Given the description of an element on the screen output the (x, y) to click on. 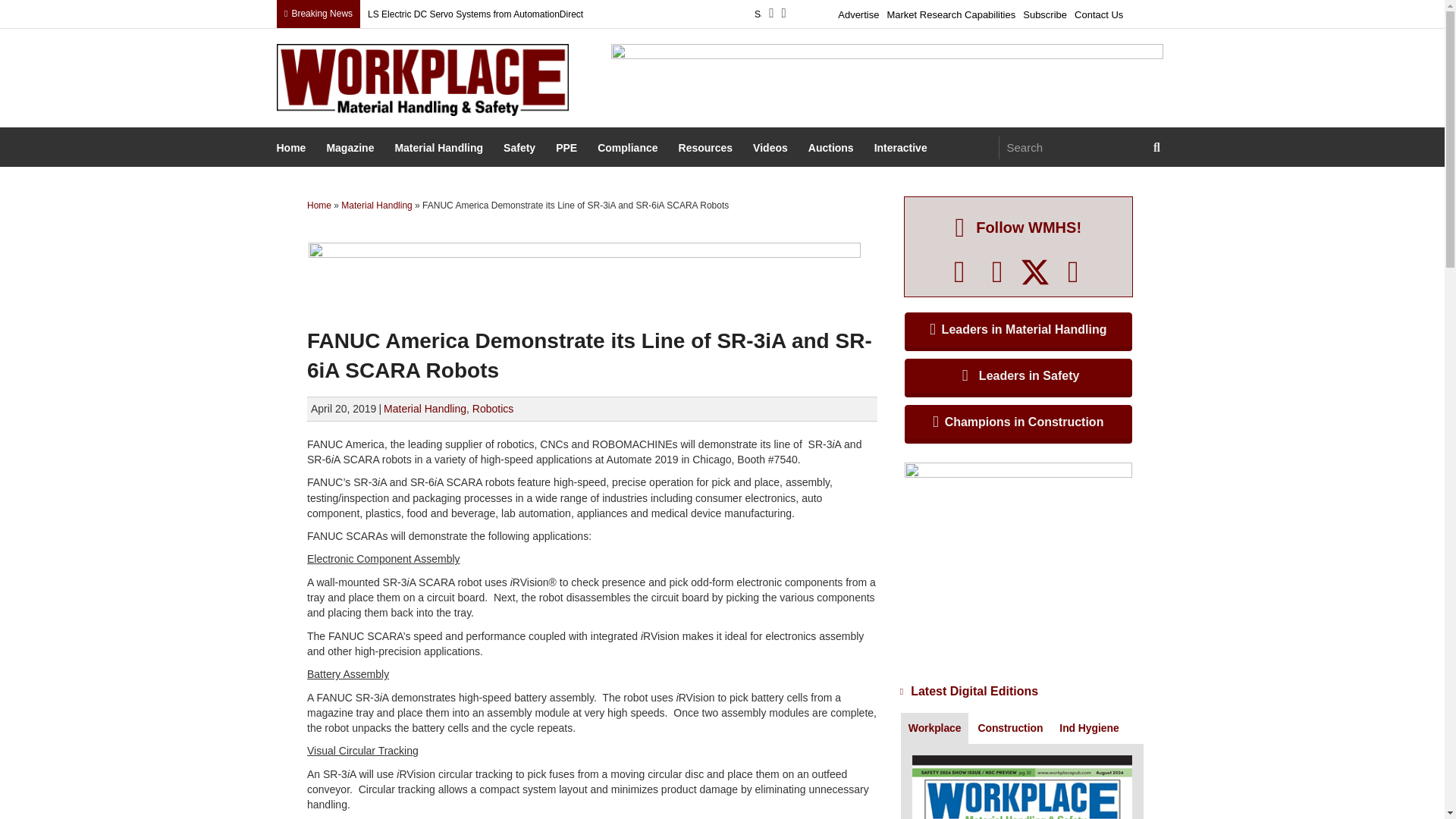
YouTube (1073, 271)
LinkedIn (996, 271)
Workplace-Logo (422, 79)
Market Research Capabilities (950, 11)
Search (1071, 147)
Magazine (351, 148)
Subscribe (1044, 11)
LS Electric DC Servo Systems from AutomationDirect (475, 14)
Home (292, 148)
Material Handling (440, 148)
Contact Us (1098, 11)
Advertise (858, 11)
Facebook (959, 271)
